Given the description of an element on the screen output the (x, y) to click on. 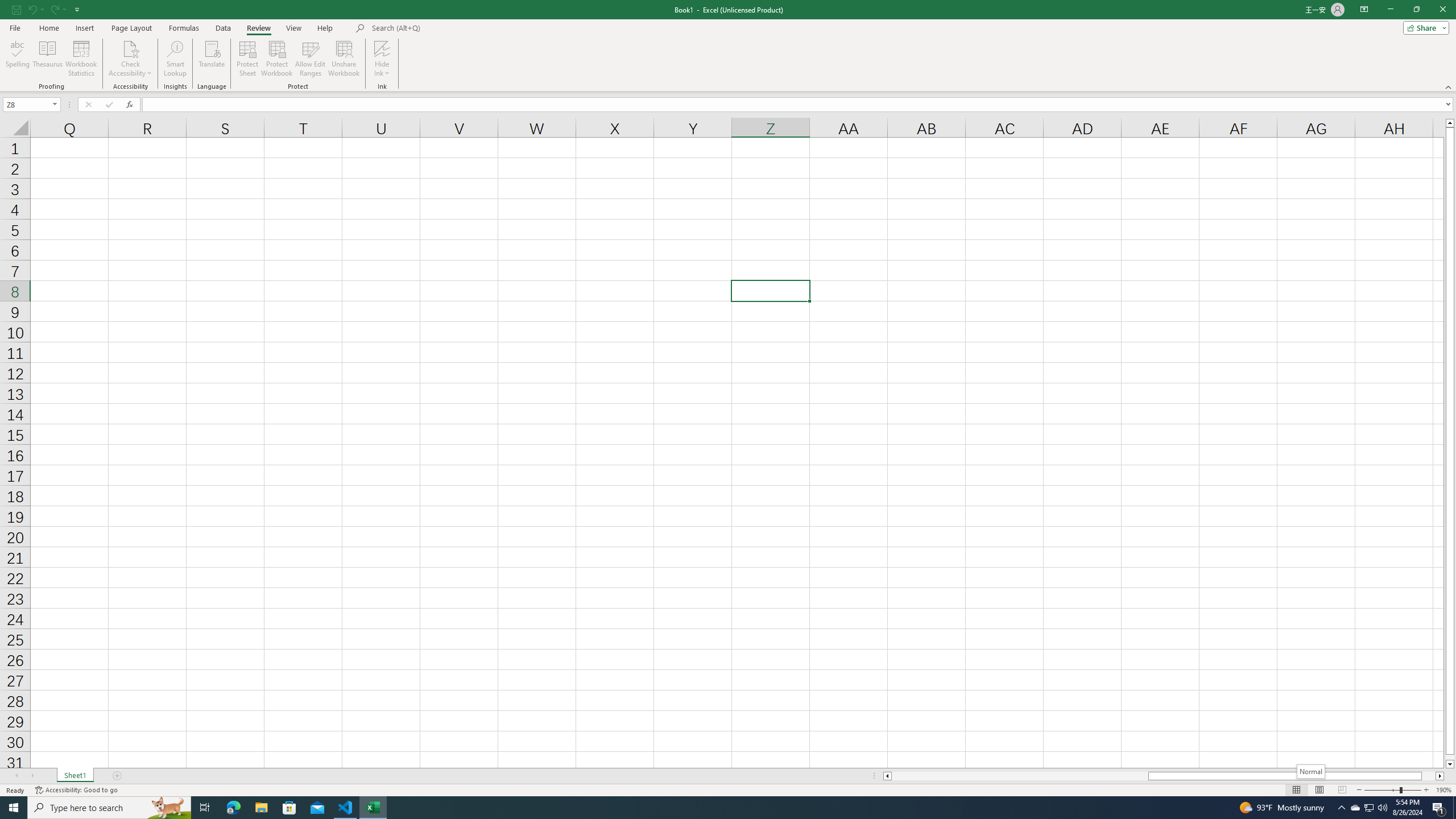
Check Accessibility (129, 58)
Protect Workbook... (277, 58)
Check Accessibility (129, 48)
